Given the description of an element on the screen output the (x, y) to click on. 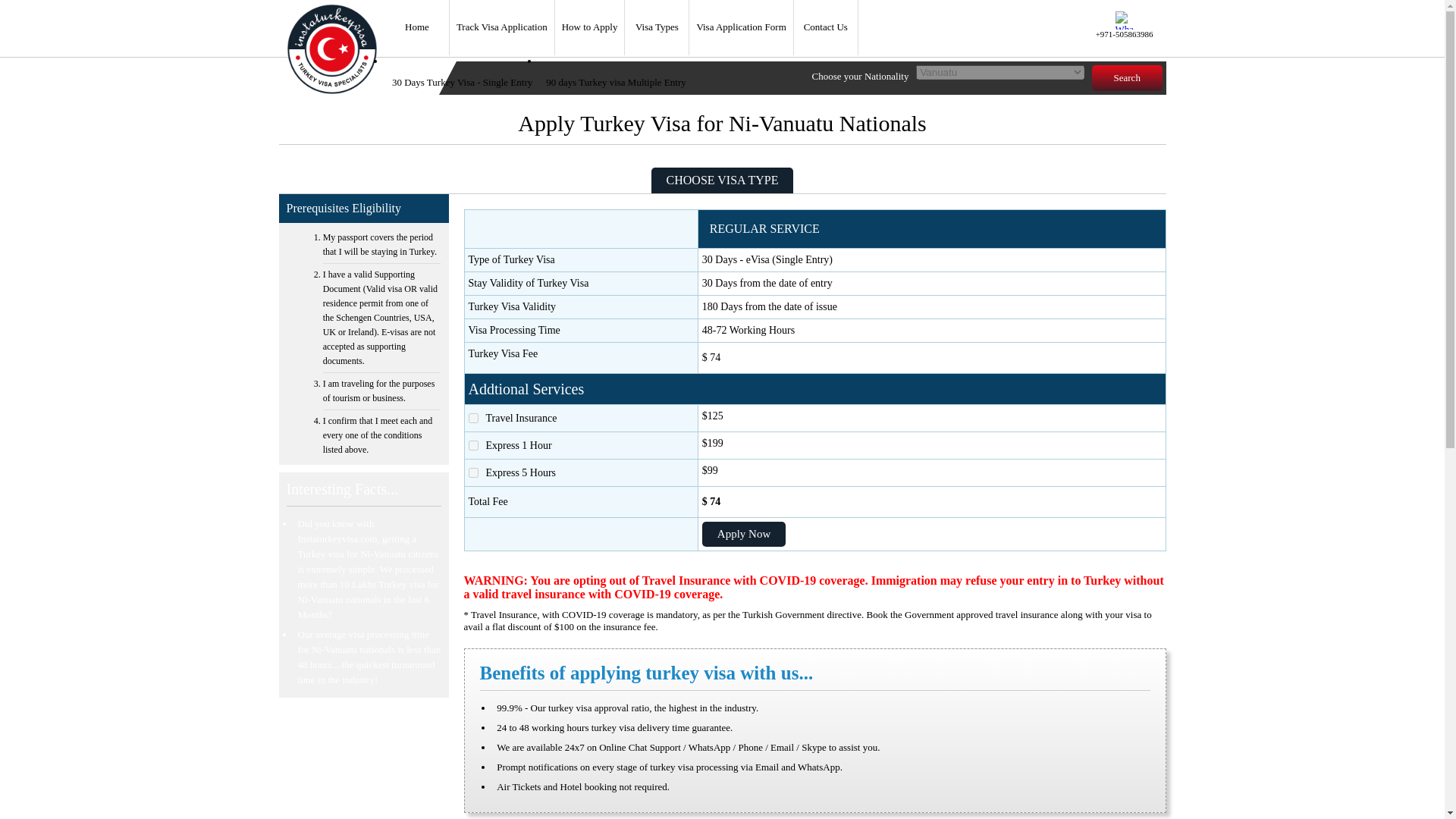
Track Visa Application (501, 27)
Visa Application Form (740, 27)
Whatsapp Enquiry (1124, 20)
How to Apply (590, 27)
Contact Us (826, 27)
90-days-turkey-visa-multiple-entry (615, 82)
99 (473, 471)
Visa Types (656, 27)
90 days Turkey visa Multiple Entry (615, 82)
Search (1126, 77)
